Given the description of an element on the screen output the (x, y) to click on. 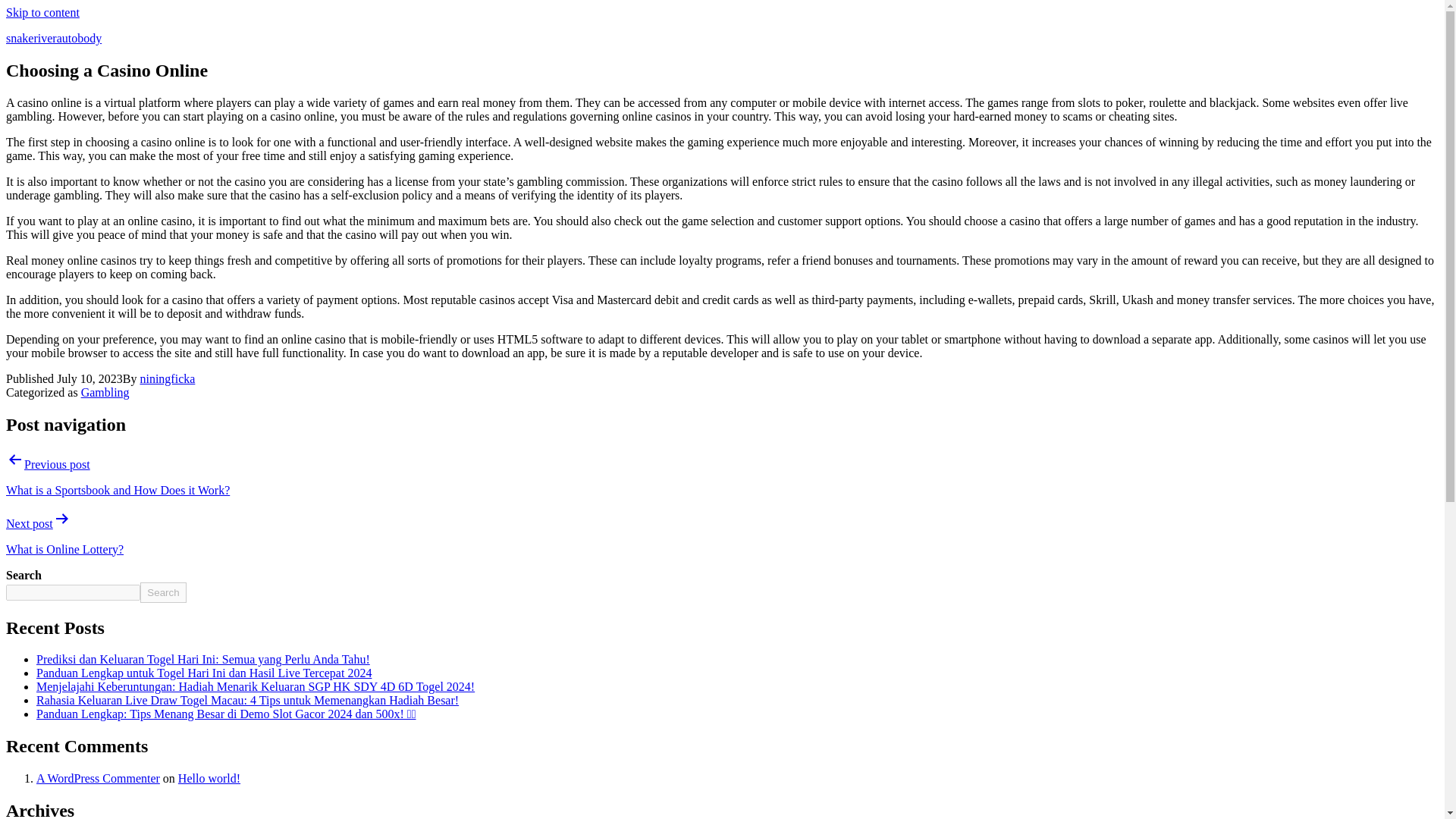
Skip to content (42, 11)
Search (162, 592)
niningficka (167, 378)
A WordPress Commenter (98, 778)
Gambling (105, 391)
Hello world! (208, 778)
snakeriverautobody (53, 38)
